Given the description of an element on the screen output the (x, y) to click on. 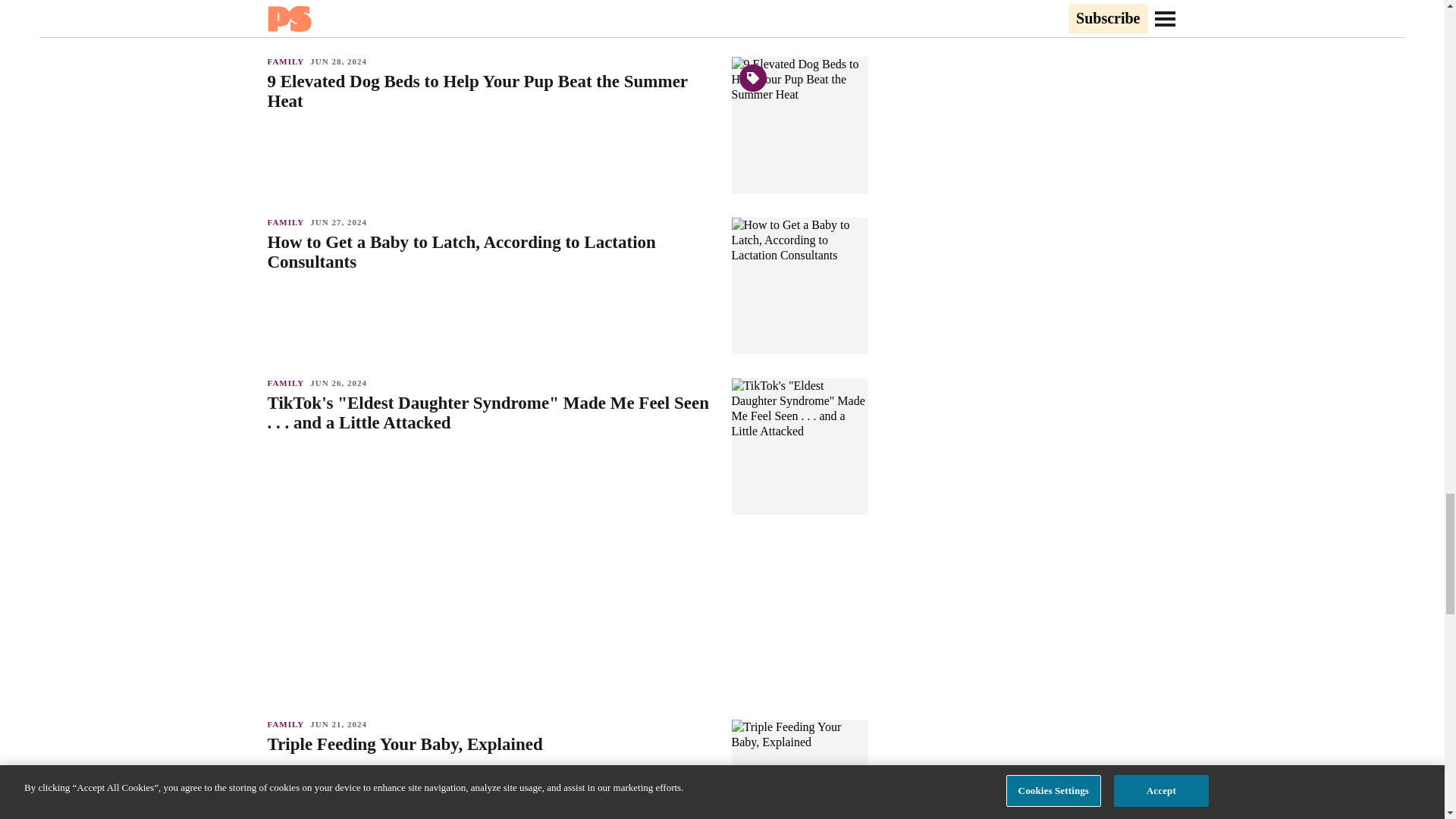
FAMILY (288, 221)
FAMILY (288, 61)
9 Elevated Dog Beds to Help Your Pup Beat the Summer Heat (491, 91)
